Given the description of an element on the screen output the (x, y) to click on. 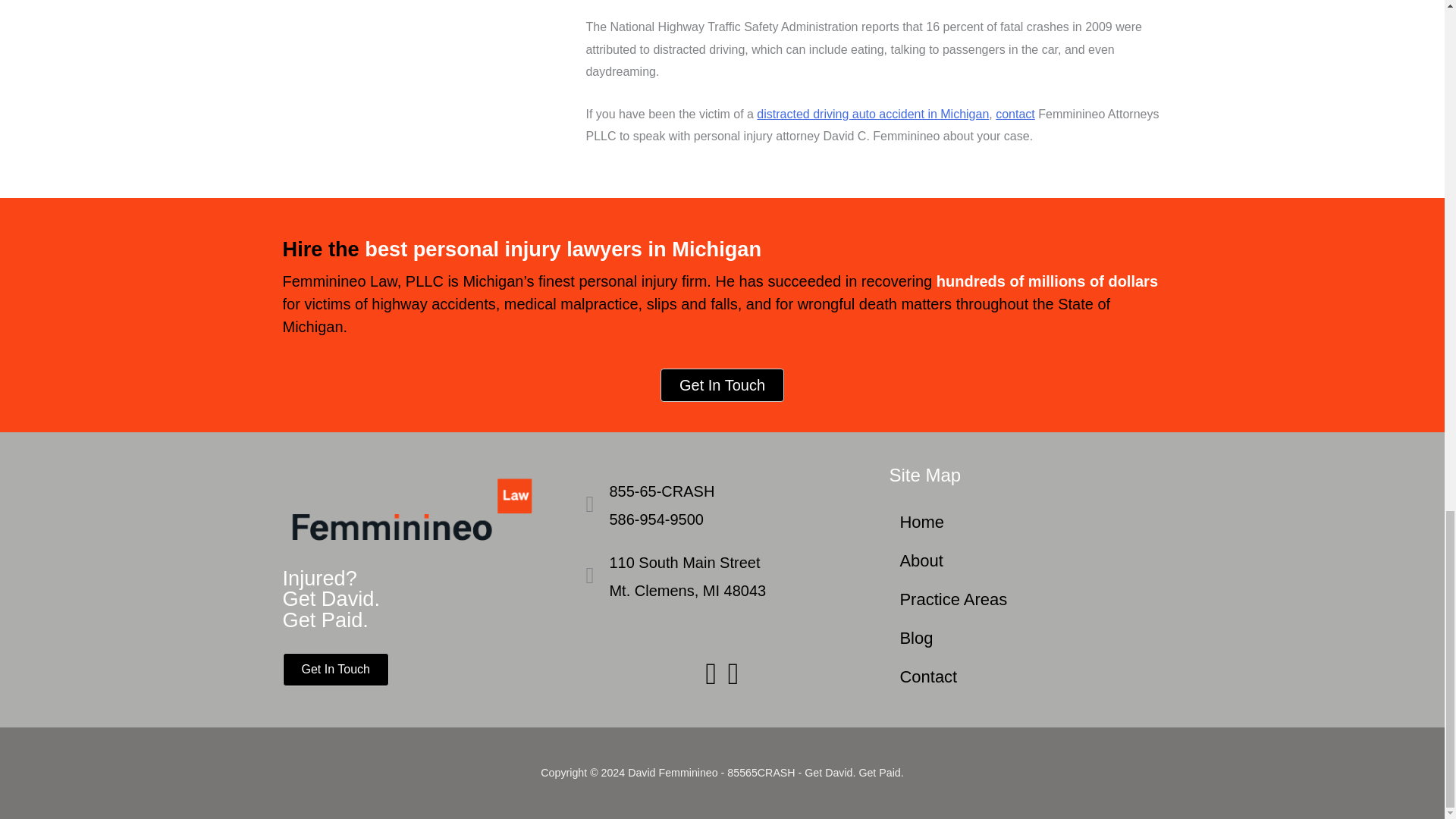
Femminineo Law logo1 (418, 507)
